Given the description of an element on the screen output the (x, y) to click on. 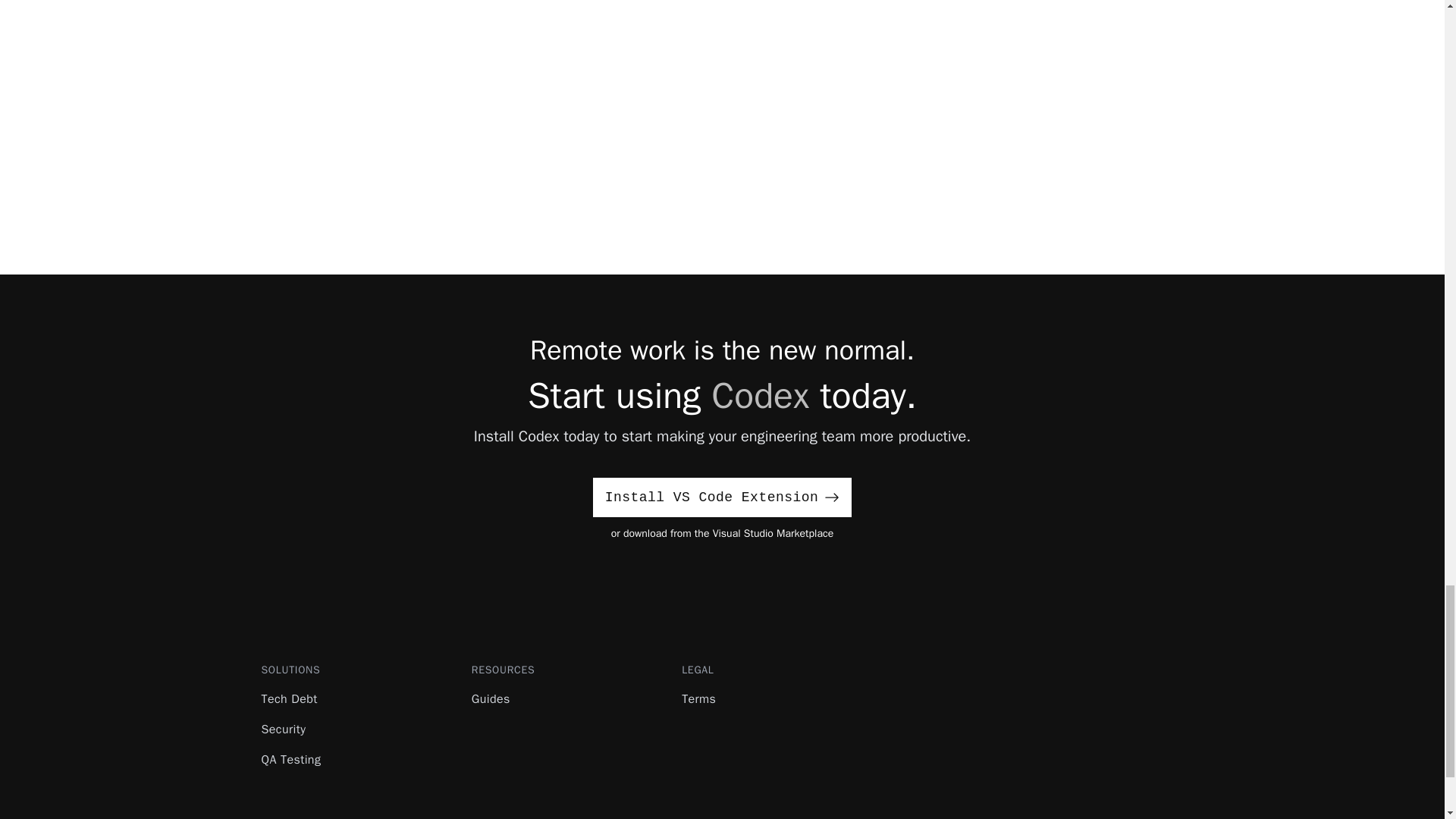
QA Testing (290, 759)
Install VS Code Extension (721, 496)
Terms (698, 698)
Guides (491, 698)
Visual Studio Marketplace (773, 533)
Security (282, 729)
Tech Debt (288, 698)
